Given the description of an element on the screen output the (x, y) to click on. 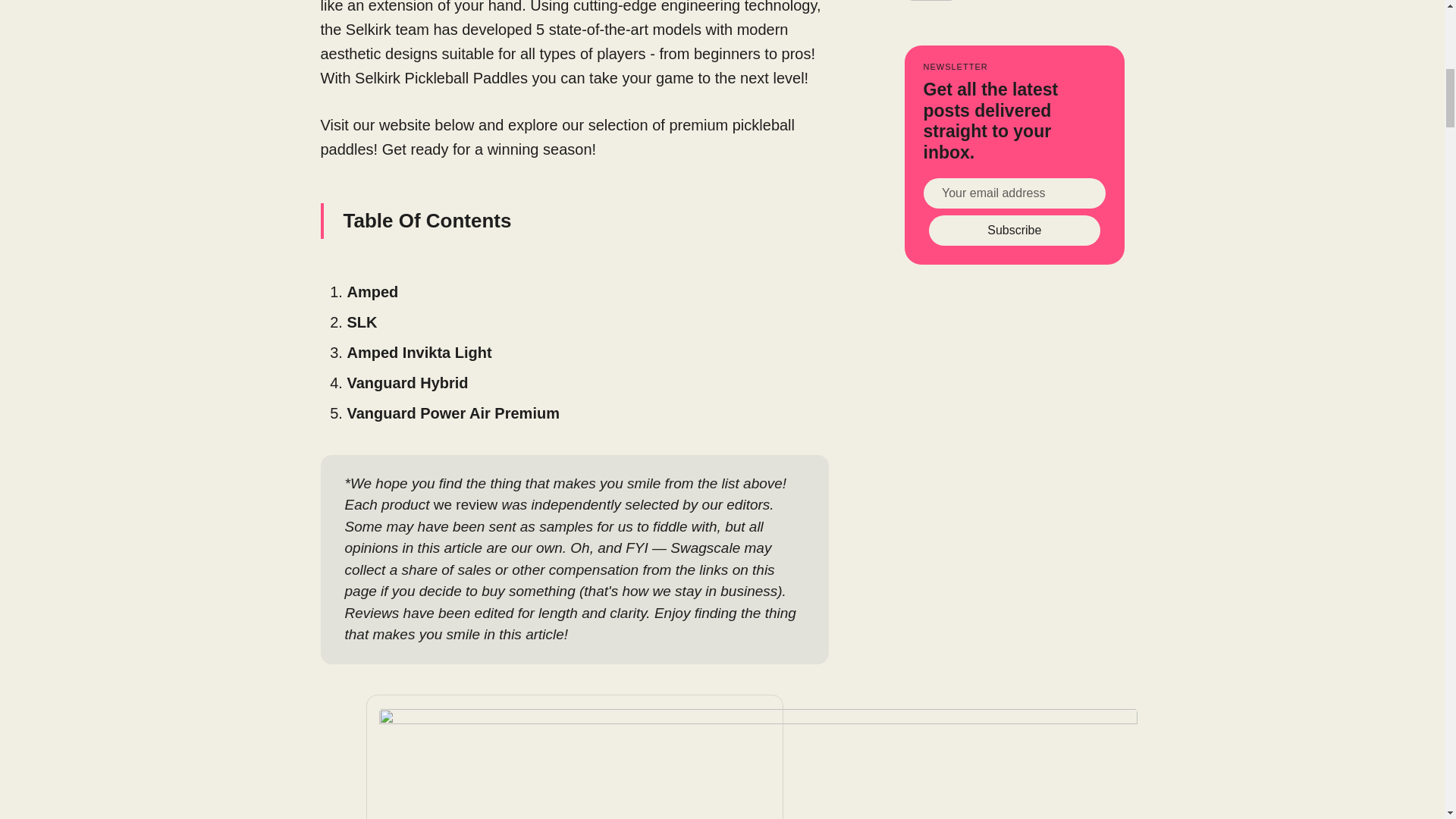
Subscribe (1014, 230)
